Given the description of an element on the screen output the (x, y) to click on. 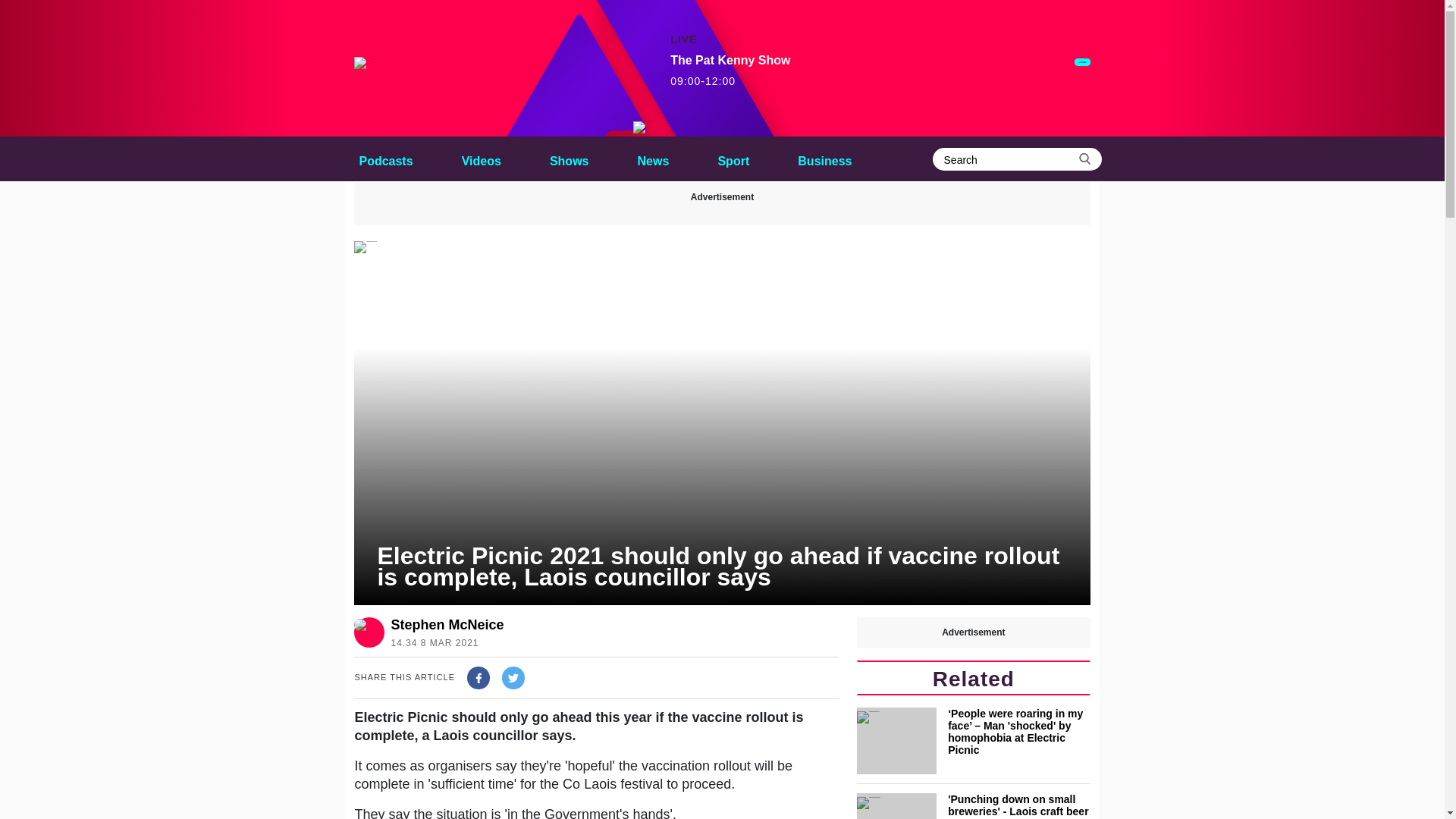
Shows (569, 158)
The Pat Kenny Show (642, 127)
Videos (481, 158)
Podcasts (384, 158)
Business (824, 158)
Sport (733, 158)
Stephen McNeice (446, 624)
Videos (481, 158)
